Given the description of an element on the screen output the (x, y) to click on. 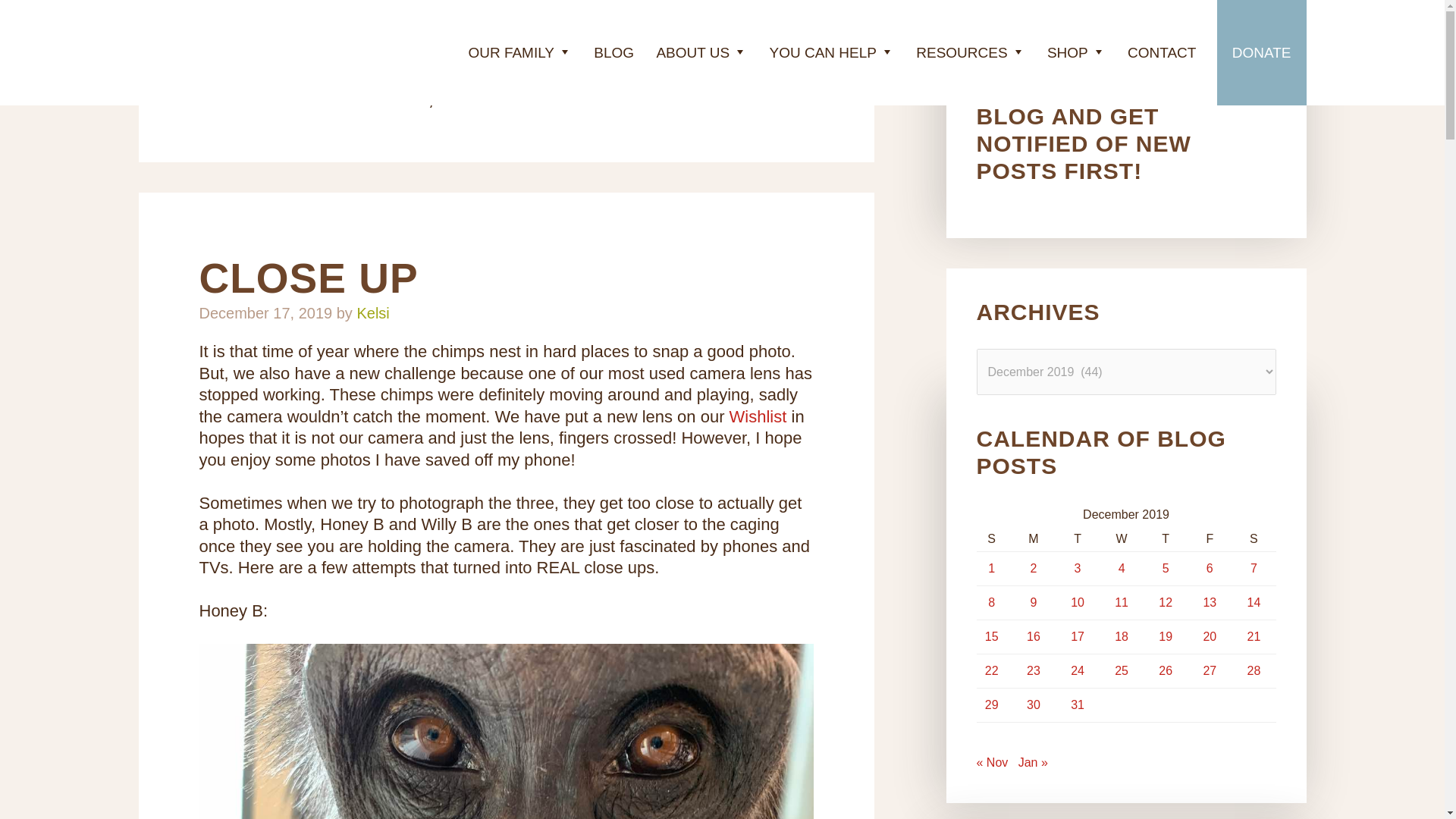
Saturday (1253, 539)
Friday (1209, 539)
Wednesday (1120, 539)
Tuesday (1077, 539)
Sunday (993, 539)
Chimpanzee Sanctuary Northwest (229, 54)
Monday (1033, 539)
RESOURCES (970, 52)
YOU CAN HELP (831, 52)
